Given the description of an element on the screen output the (x, y) to click on. 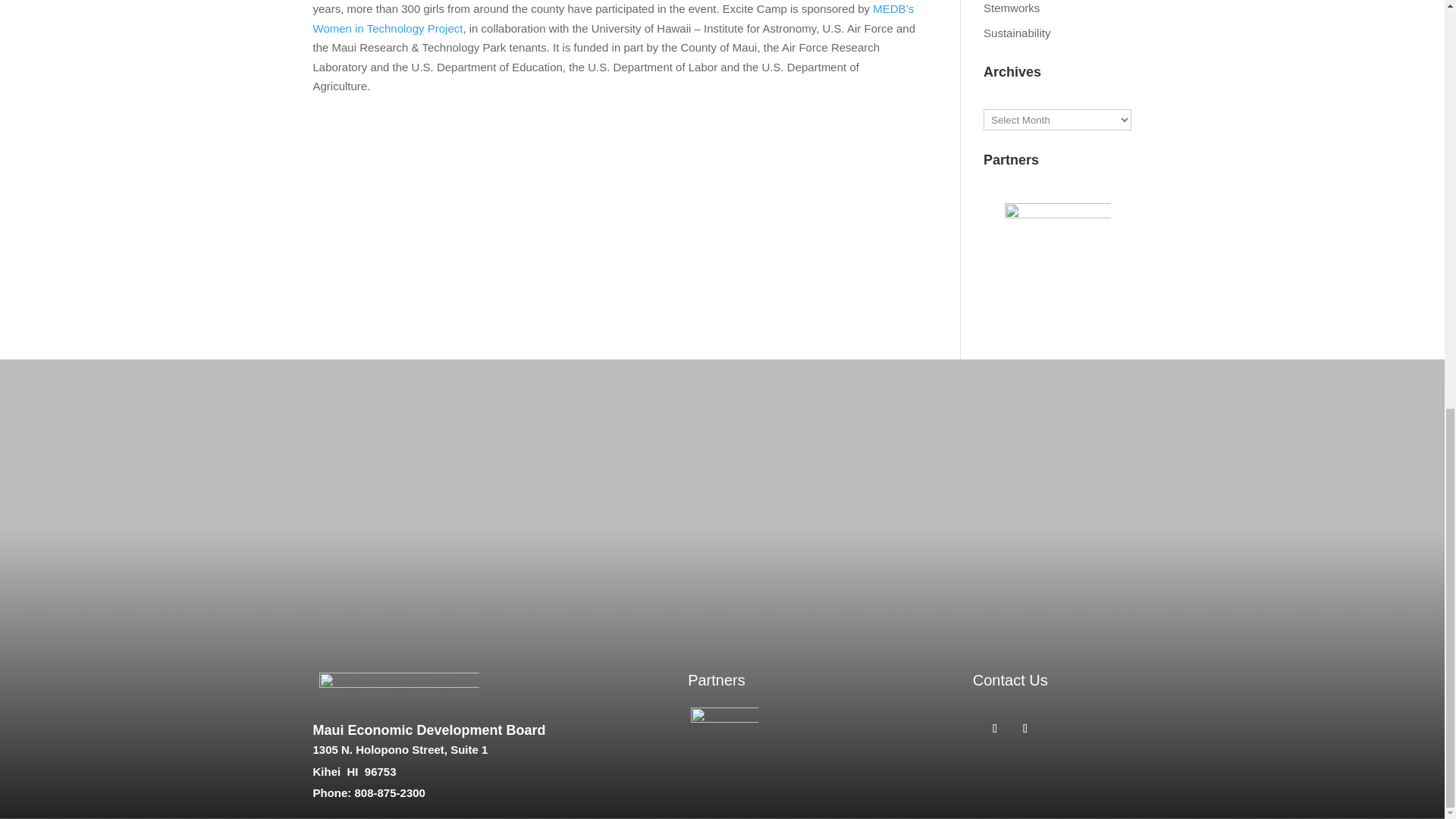
Sustainability (1016, 32)
Follow on Facebook (994, 728)
Follow on X (1024, 728)
Contact Us (1010, 679)
Women in Technology project (613, 18)
Stemworks (1011, 7)
